Given the description of an element on the screen output the (x, y) to click on. 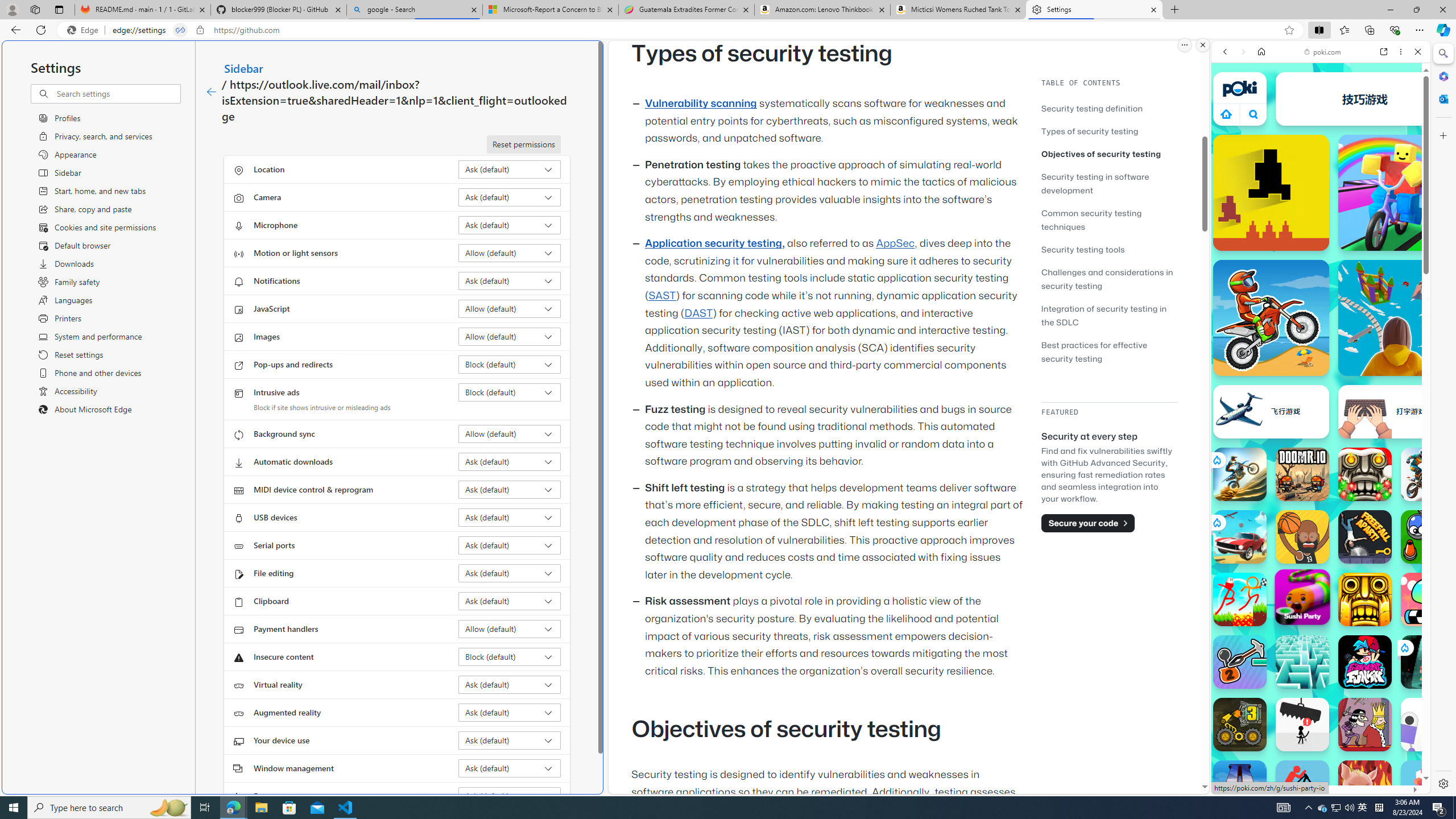
Moto X3M (1270, 317)
Application security testing (713, 243)
Ping Pong Go! (1364, 98)
Maze: Path of Light (1302, 661)
Automatic downloads Ask (default) (509, 461)
Stickman Bike Stickman Bike (1302, 787)
Iron Snout Iron Snout (1364, 787)
Class: rCs5cyEiqiTpYvt_VBCR (1404, 647)
poki.com (1322, 51)
Intrusive ads Block (default) (509, 392)
Avoid Dying Avoid Dying (1302, 724)
Poki - Free Online Games - Play Now! (1315, 175)
